Given the description of an element on the screen output the (x, y) to click on. 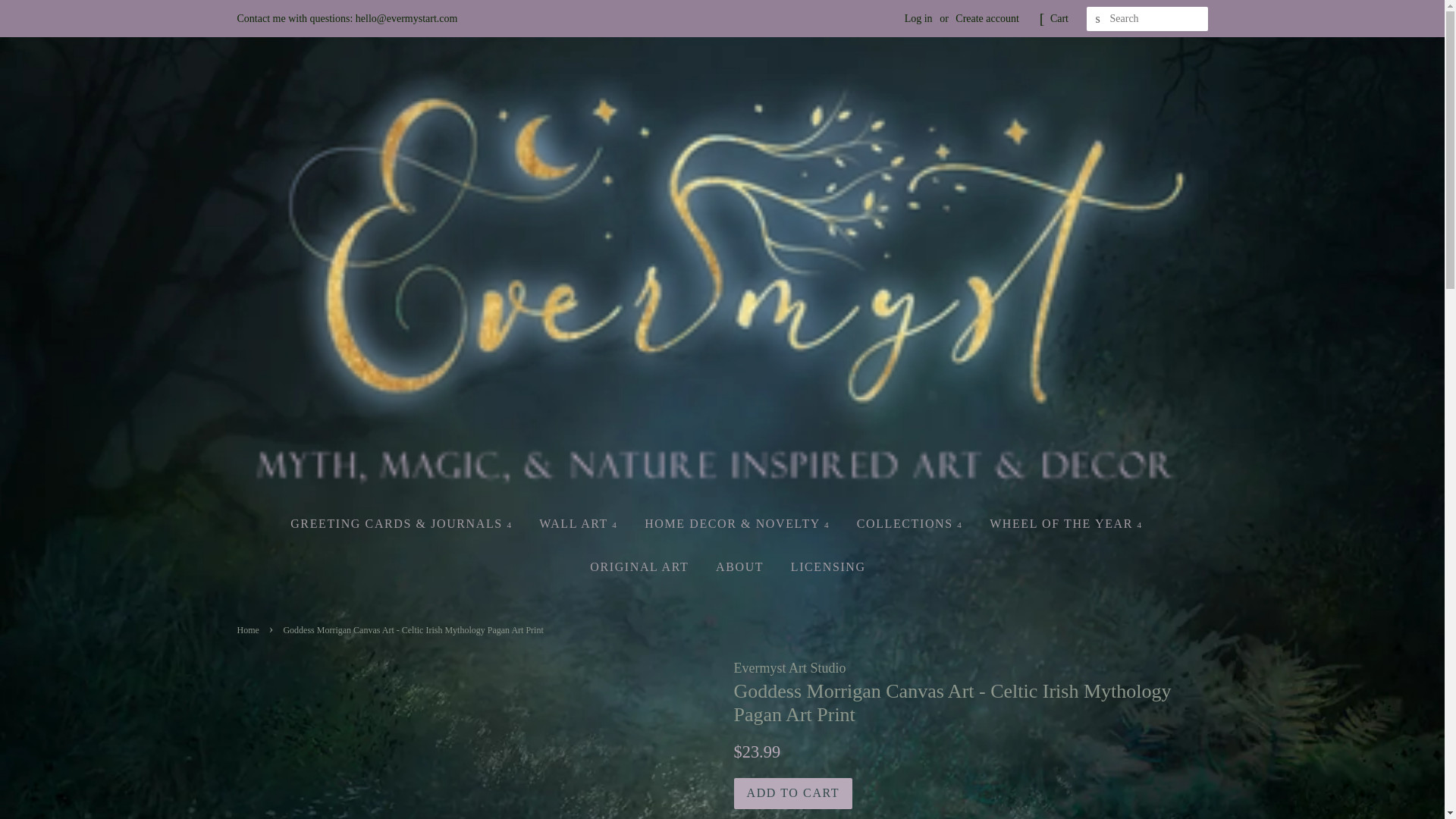
Create account (987, 18)
Log in (918, 18)
SEARCH (1097, 18)
Back to the frontpage (248, 629)
Cart (1058, 18)
